Given the description of an element on the screen output the (x, y) to click on. 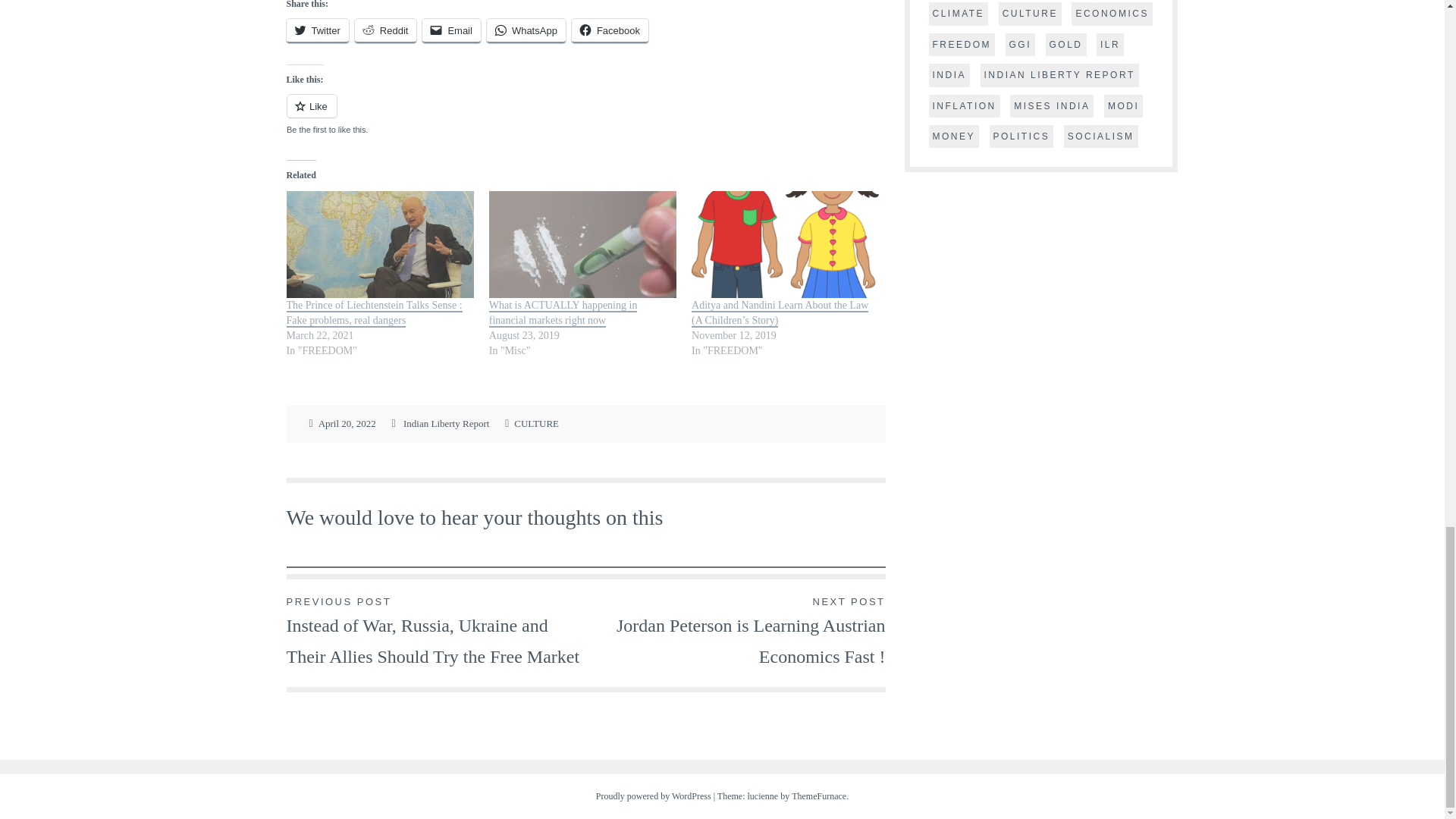
Like or Reblog (585, 114)
Email (451, 30)
WhatsApp (526, 30)
Click to share on Facebook (609, 30)
April 20, 2022 (346, 423)
Reddit (385, 30)
What is ACTUALLY happening in financial markets right now (563, 313)
What is ACTUALLY happening in financial markets right now (563, 313)
Click to share on Twitter (317, 30)
Click to share on WhatsApp (526, 30)
Click to email a link to a friend (451, 30)
Facebook (609, 30)
What is ACTUALLY happening in financial markets right now (583, 244)
